Given the description of an element on the screen output the (x, y) to click on. 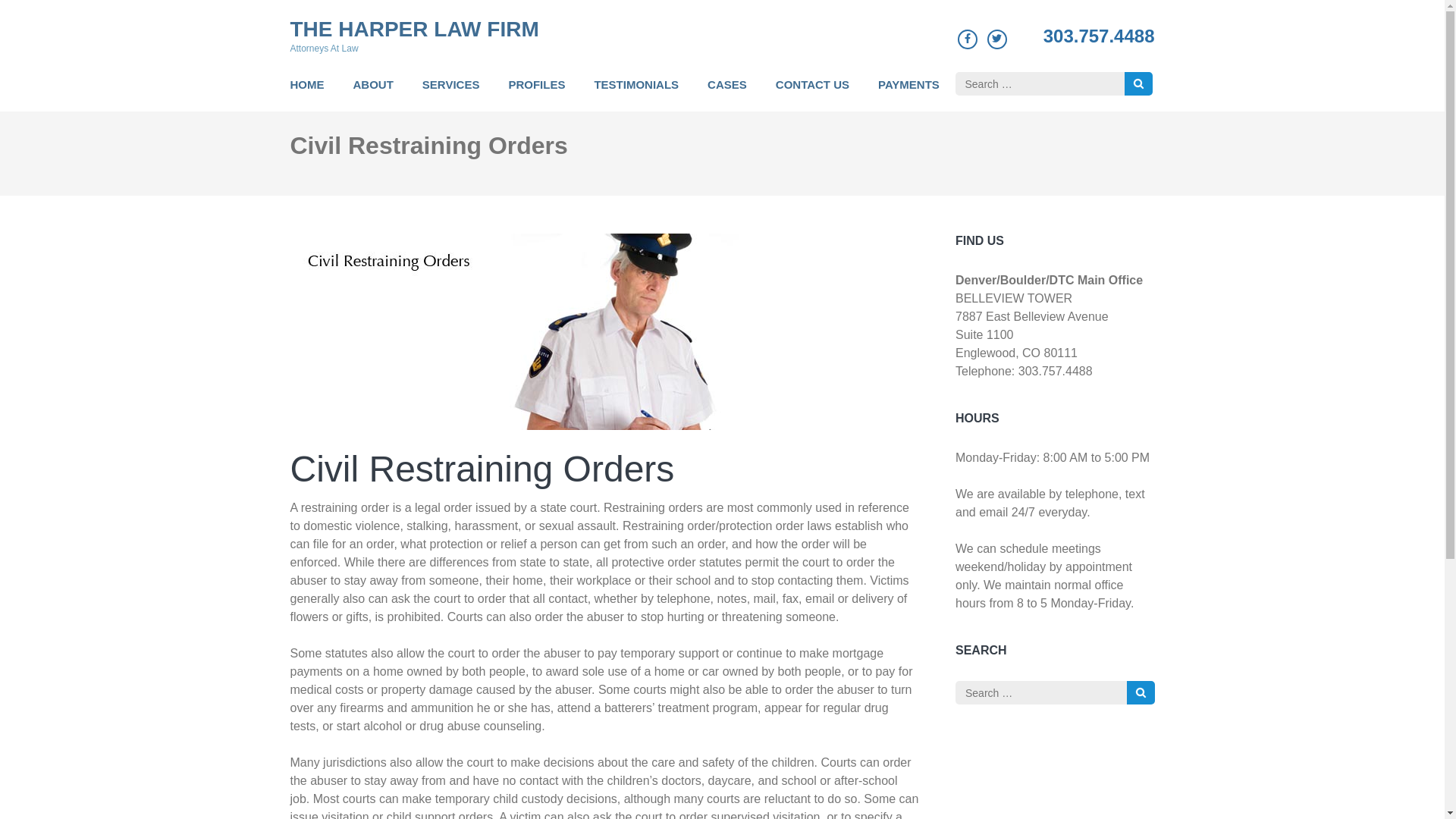
303.757.4488 (1098, 36)
Search (1140, 692)
Search (1137, 83)
PROFILES (536, 93)
HOME (306, 93)
PAYMENTS (908, 93)
Twitter (997, 38)
Facebook (967, 38)
Search (1140, 692)
CASES (726, 93)
